Given the description of an element on the screen output the (x, y) to click on. 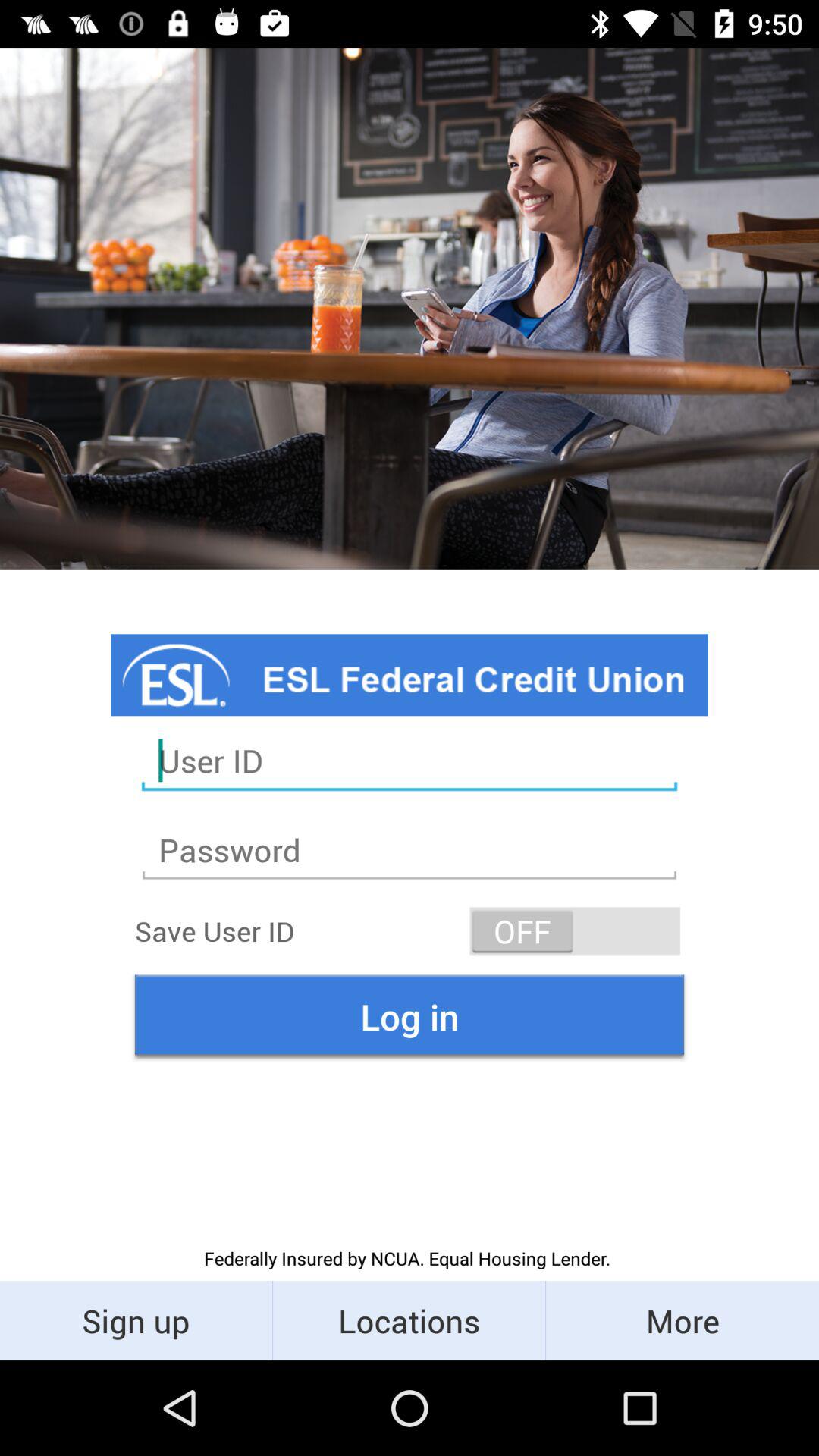
launch item to the right of the locations item (682, 1320)
